Given the description of an element on the screen output the (x, y) to click on. 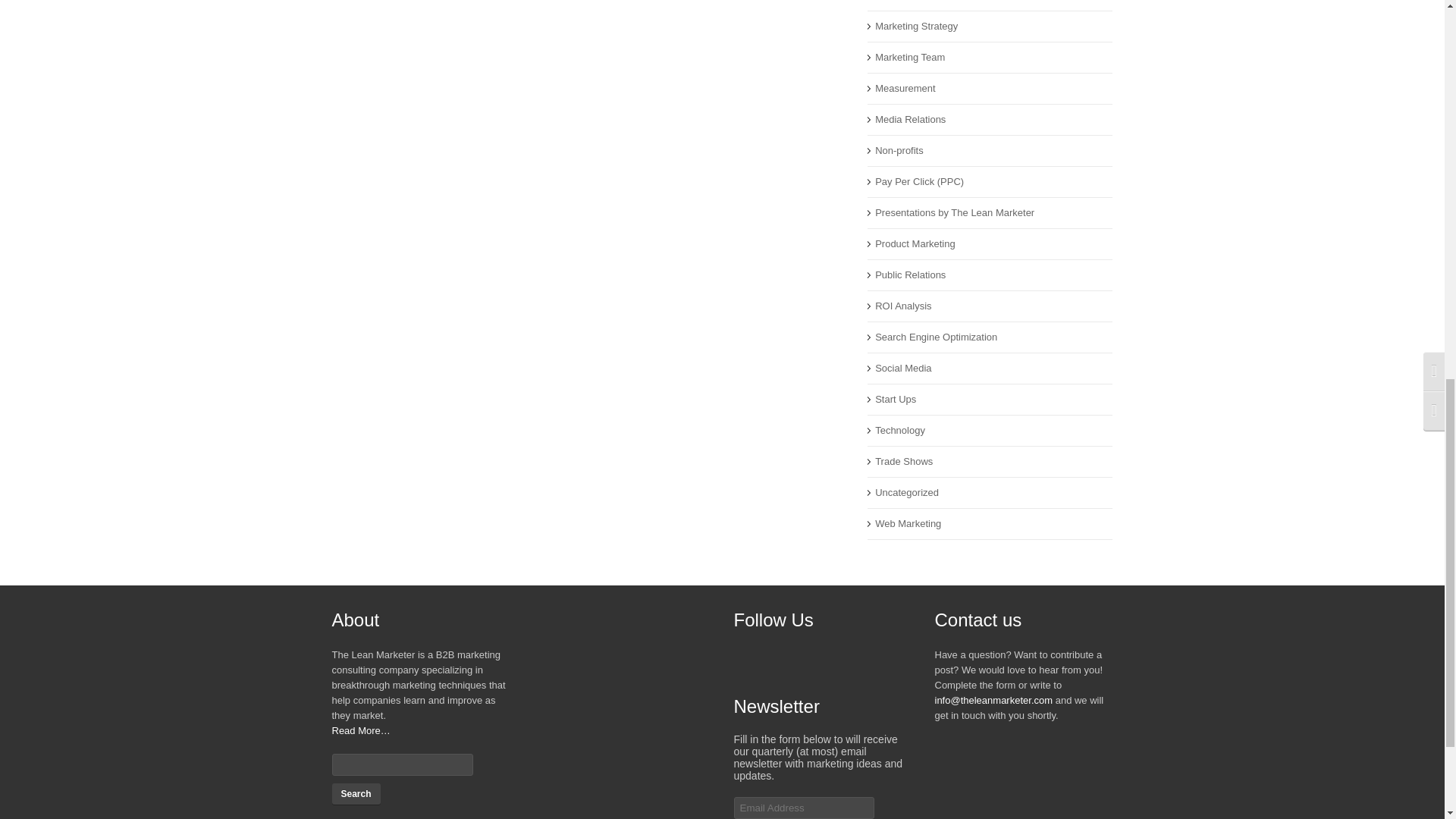
Marketing Team (909, 57)
Measurement (904, 88)
Search (355, 793)
Media Relations (909, 119)
Marketing Strategy (916, 25)
